Given the description of an element on the screen output the (x, y) to click on. 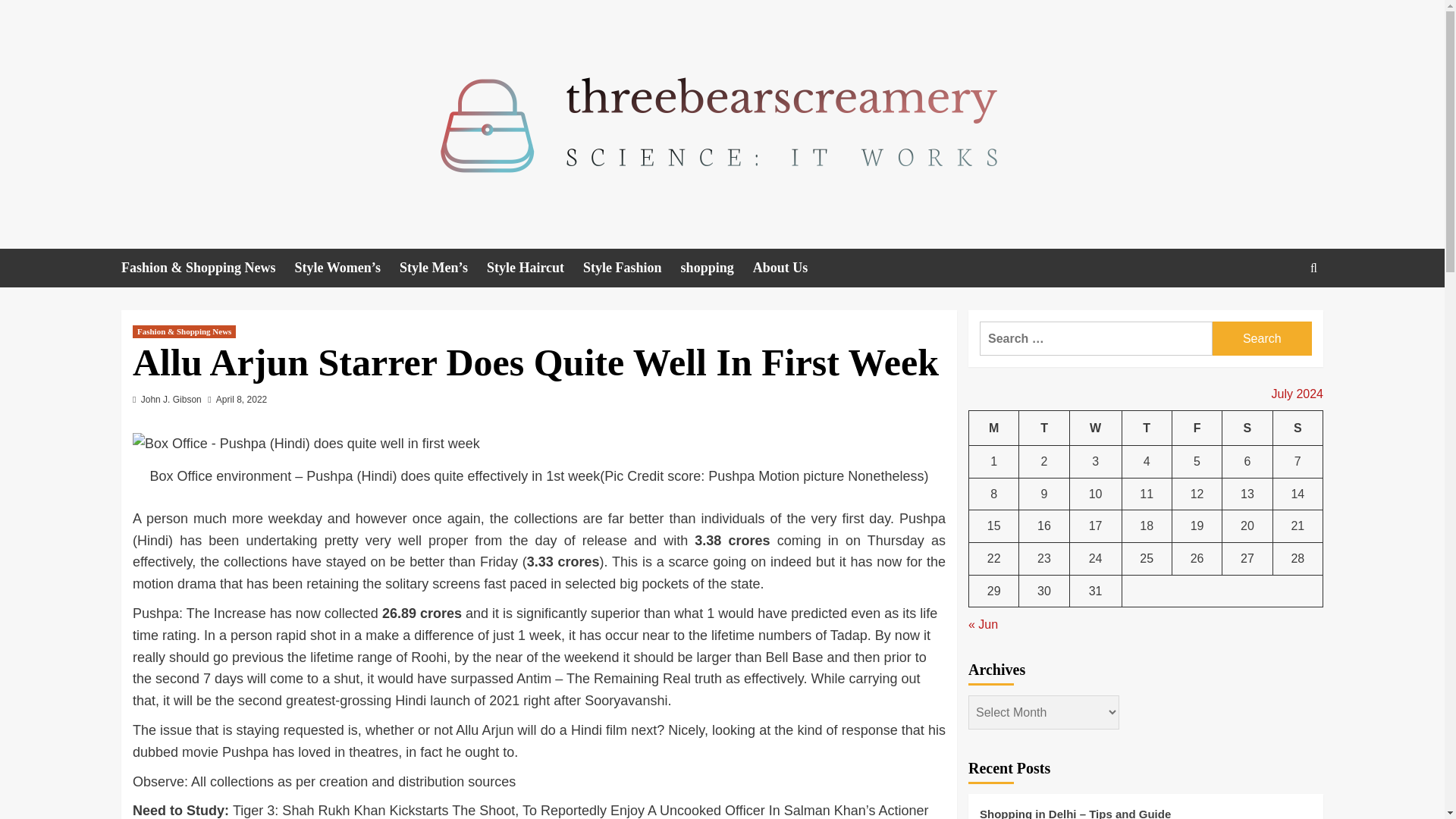
Search (1261, 338)
Search (1261, 338)
Thursday (1146, 427)
Search (1278, 314)
About Us (789, 267)
Style Haircut (534, 267)
Style Fashion (632, 267)
Sunday (1297, 427)
Tuesday (1043, 427)
Monday (994, 427)
Friday (1196, 427)
April 8, 2022 (240, 398)
John J. Gibson (171, 398)
Saturday (1247, 427)
shopping (716, 267)
